Given the description of an element on the screen output the (x, y) to click on. 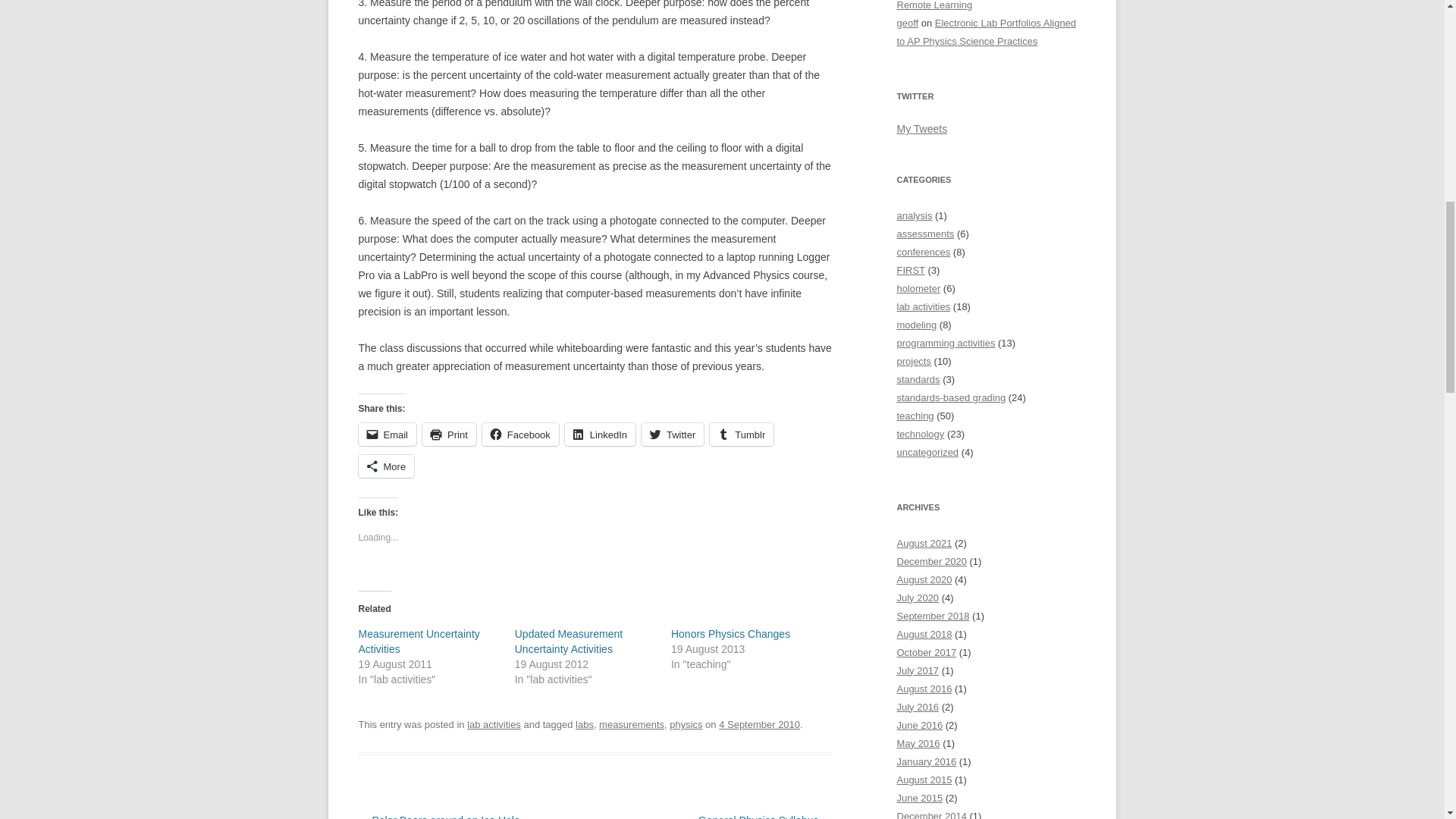
Click to share on Tumblr (741, 434)
4 September 2010 (759, 724)
LinkedIn (599, 434)
Print (449, 434)
Click to share on LinkedIn (599, 434)
Email (387, 434)
measurements (630, 724)
More (385, 466)
Facebook (520, 434)
Click to share on Facebook (520, 434)
